Given the description of an element on the screen output the (x, y) to click on. 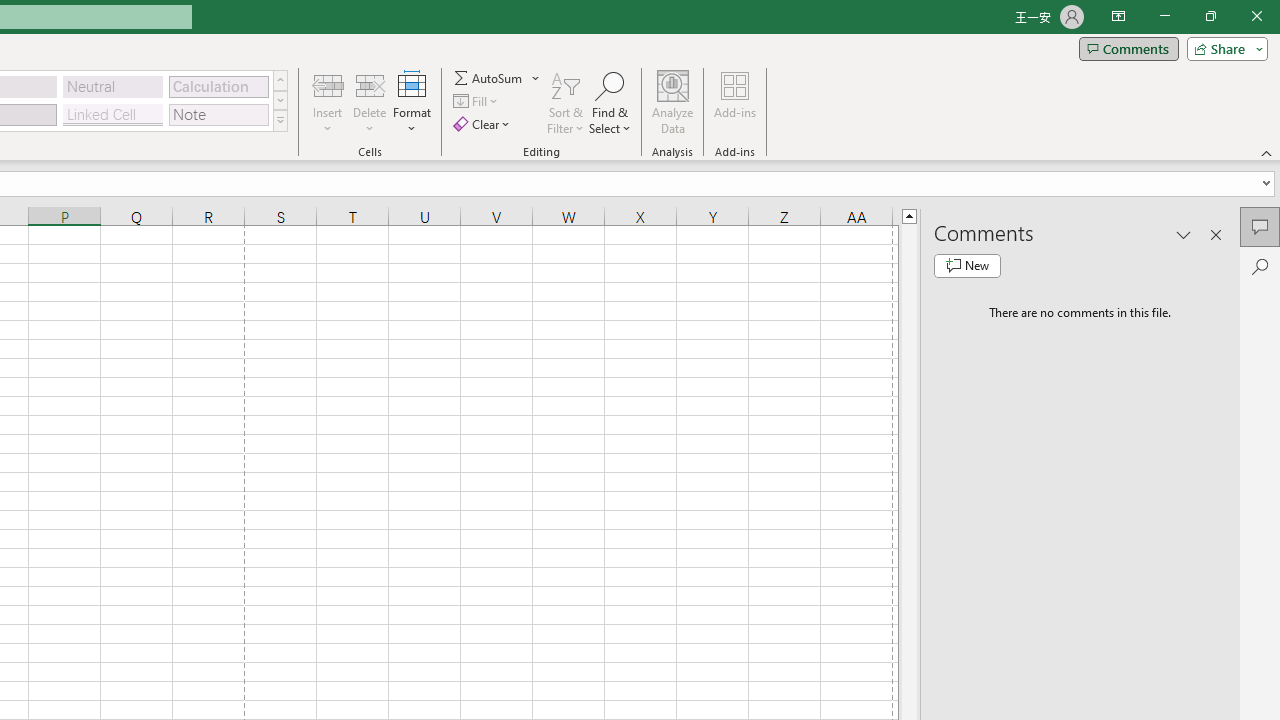
Format (411, 102)
Neutral (113, 86)
Collapse the Ribbon (1267, 152)
Close (1256, 16)
Class: NetUIImage (280, 120)
Calculation (218, 86)
Linked Cell (113, 114)
Row Down (280, 100)
Insert Cells (328, 84)
More Options (536, 78)
Cell Styles (280, 120)
New comment (967, 265)
Delete Cells... (369, 84)
Find & Select (610, 102)
